Given the description of an element on the screen output the (x, y) to click on. 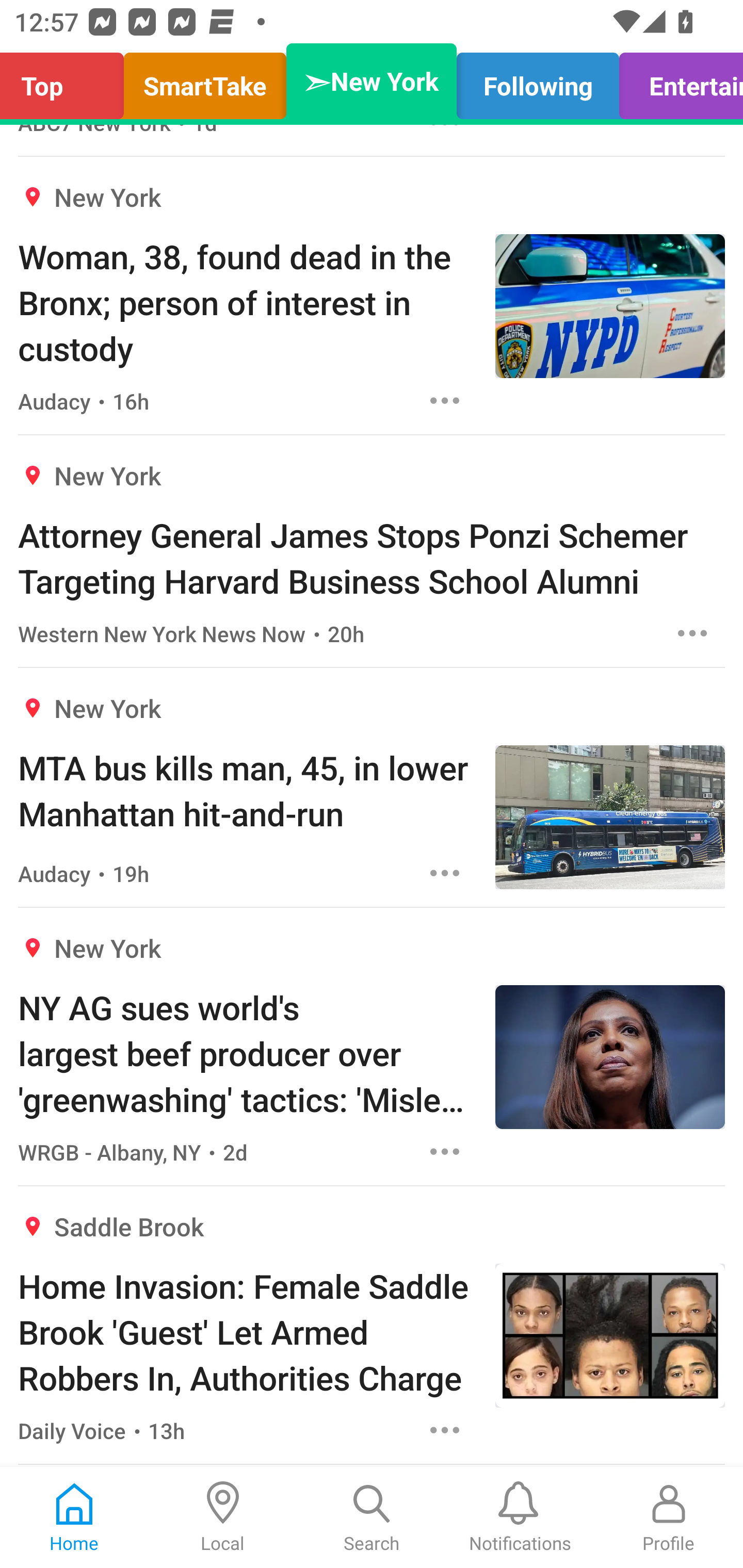
Top (67, 81)
SmartTake (204, 81)
➣New York (371, 81)
Following (537, 81)
Options (444, 400)
Options (692, 633)
Options (444, 873)
Options (444, 1151)
Options (444, 1429)
Local (222, 1517)
Search (371, 1517)
Notifications (519, 1517)
Profile (668, 1517)
